Given the description of an element on the screen output the (x, y) to click on. 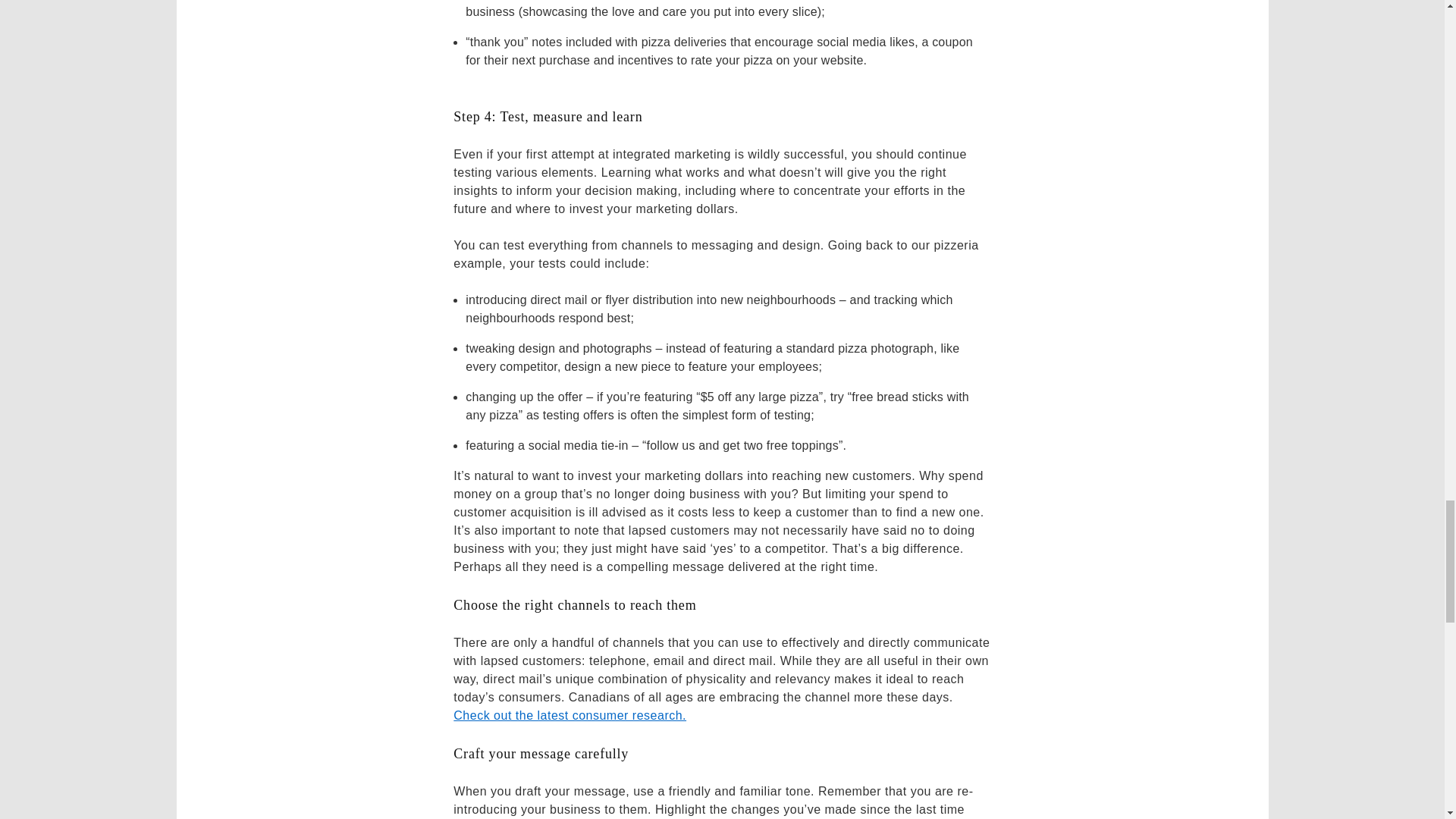
Check out the latest consumer research. (568, 715)
